Given the description of an element on the screen output the (x, y) to click on. 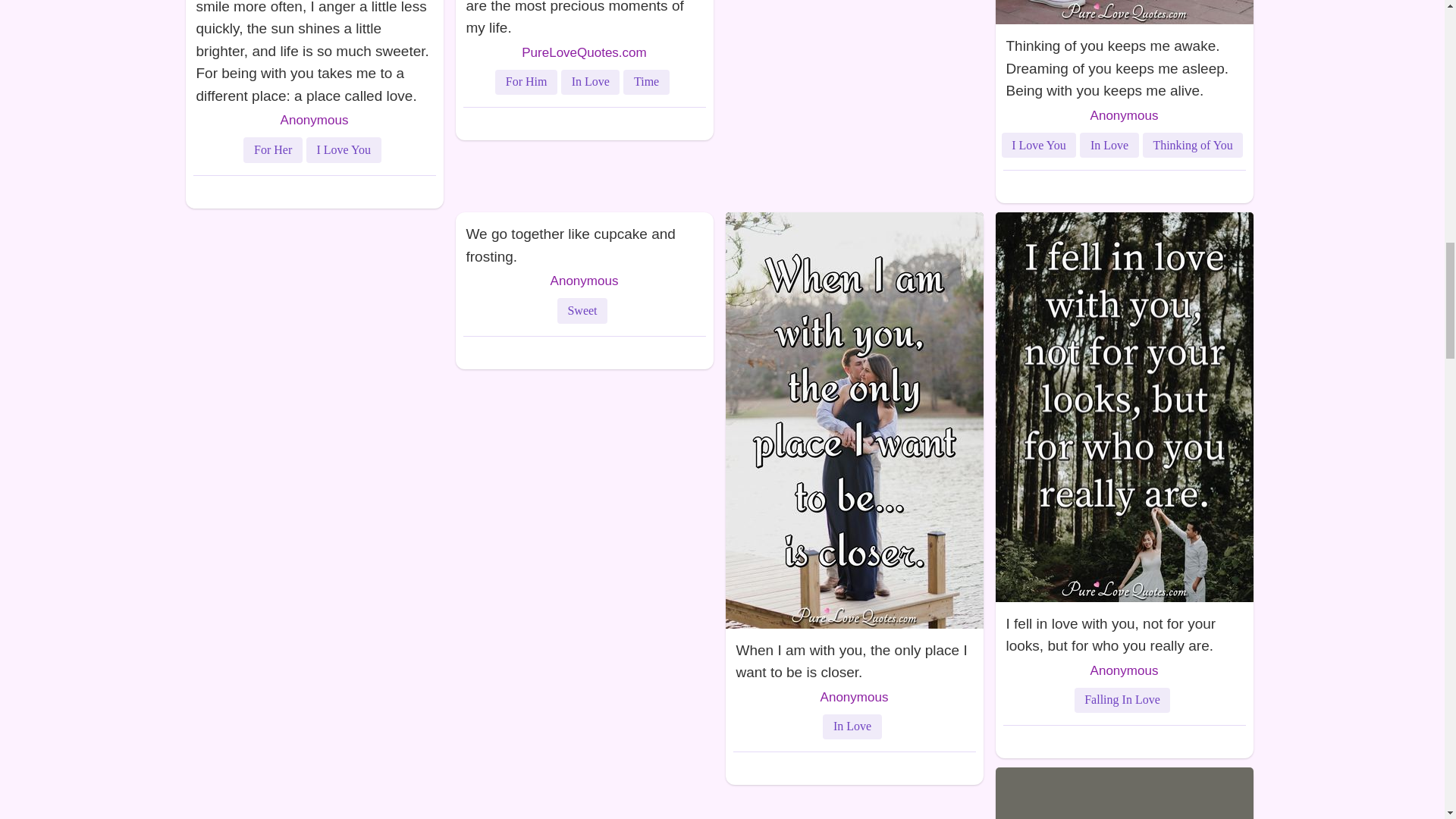
see quote (583, 21)
see quote (313, 55)
